Given the description of an element on the screen output the (x, y) to click on. 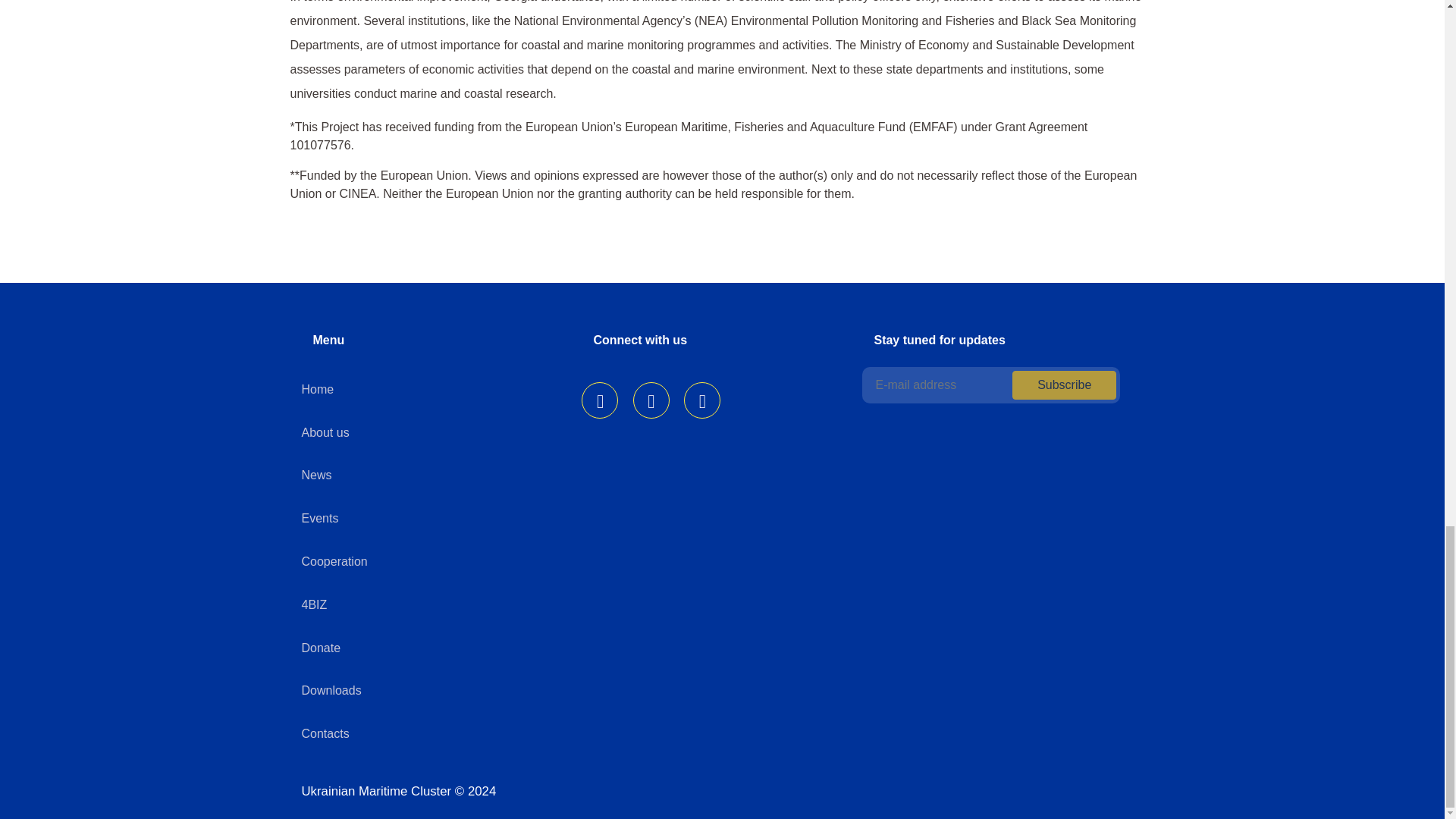
News (316, 474)
Events (320, 517)
Contacts (325, 733)
Home (317, 389)
Facebook (598, 400)
About us (325, 431)
LinkedIn (651, 400)
Subscribe (1063, 385)
4BIZ (314, 604)
YouTube (702, 400)
Cooperation (334, 561)
Downloads (331, 689)
Subscribe (1063, 385)
Donate (320, 647)
